Given the description of an element on the screen output the (x, y) to click on. 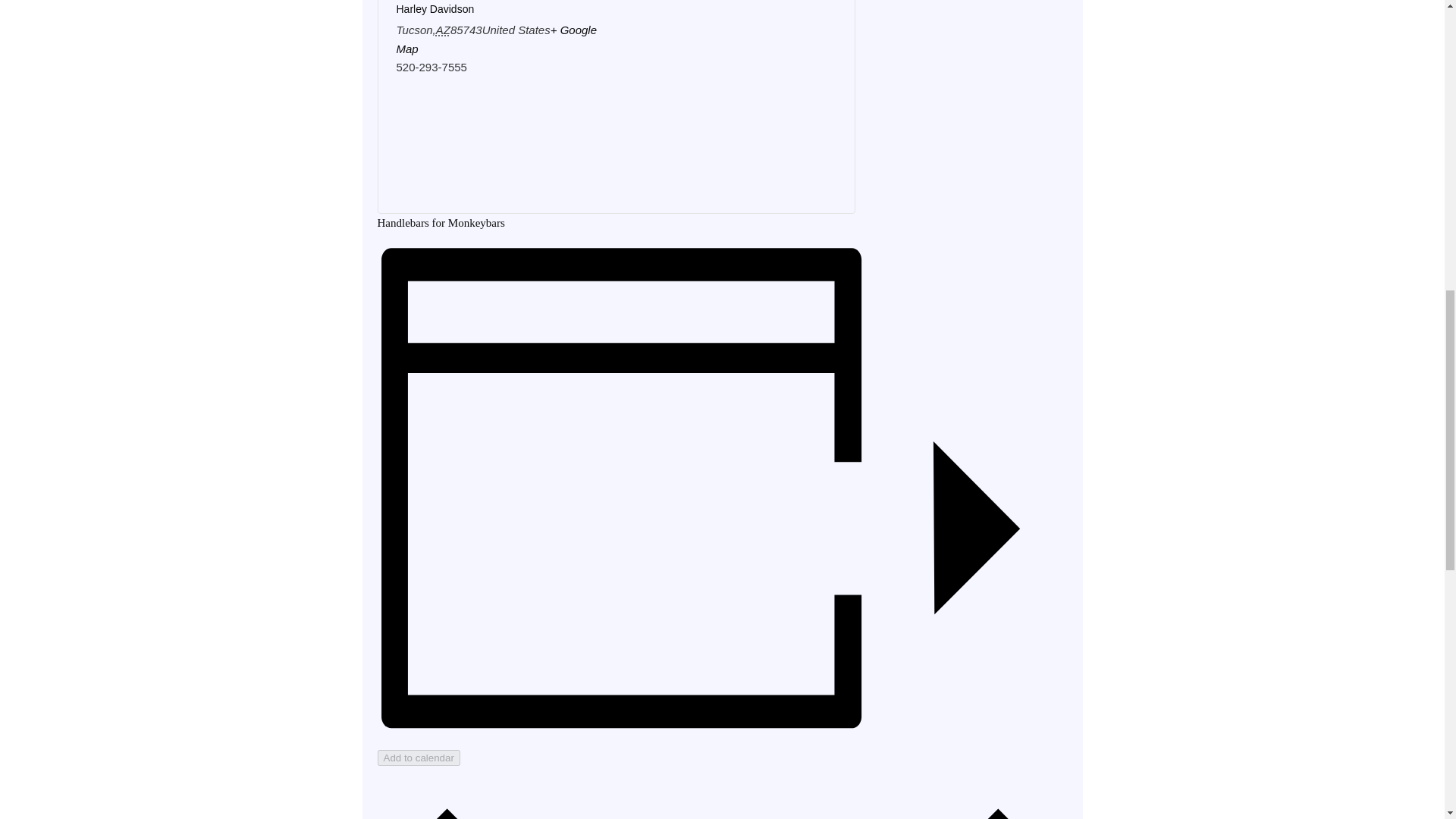
Handlebars for Monkeybars (441, 223)
Harley Davidson (435, 9)
Add to calendar (418, 757)
Click to view a Google Map (496, 38)
Arizona (442, 29)
Harley Davidson (435, 9)
